Given the description of an element on the screen output the (x, y) to click on. 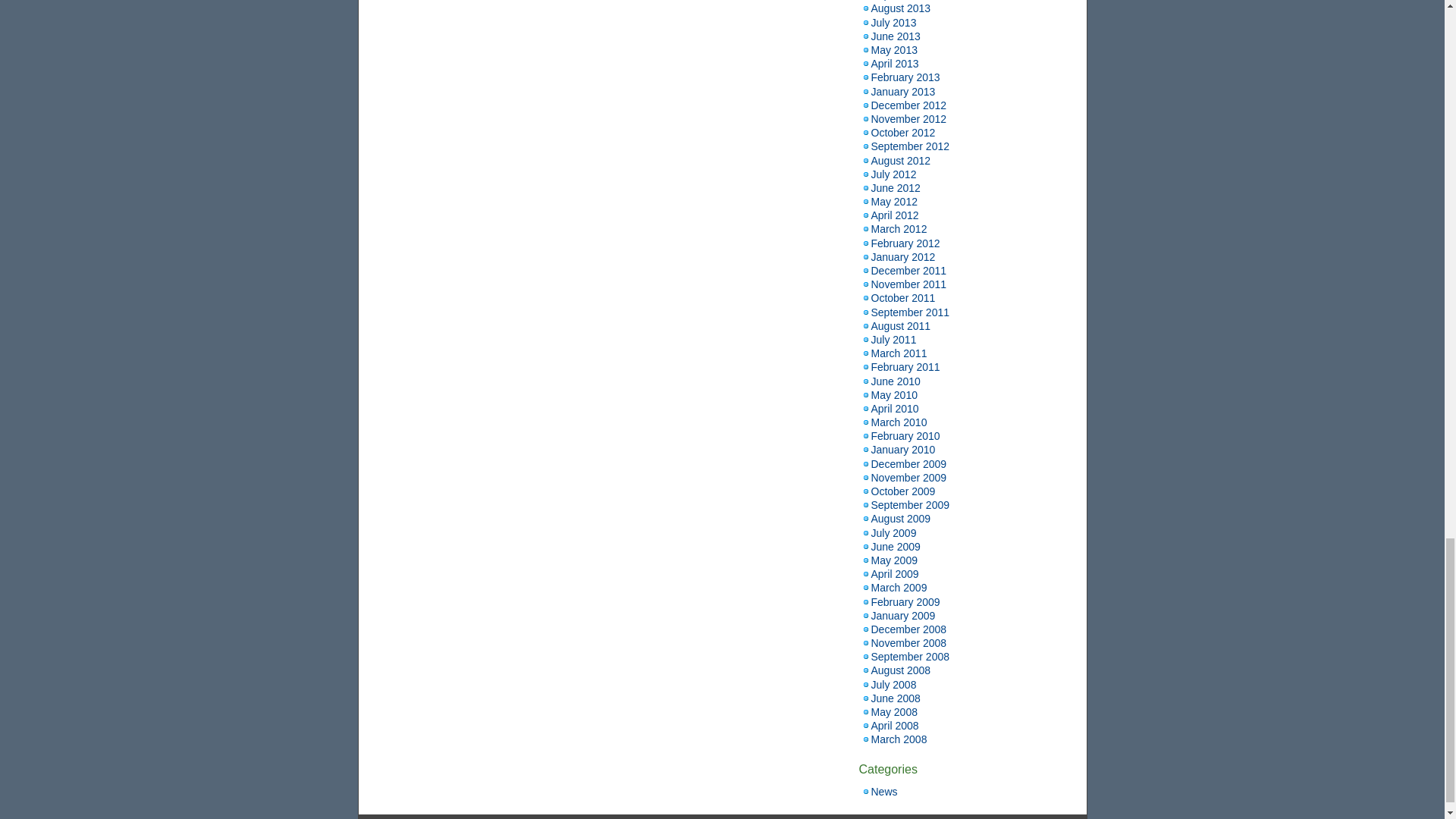
Powered by WordPress (650, 818)
